Given the description of an element on the screen output the (x, y) to click on. 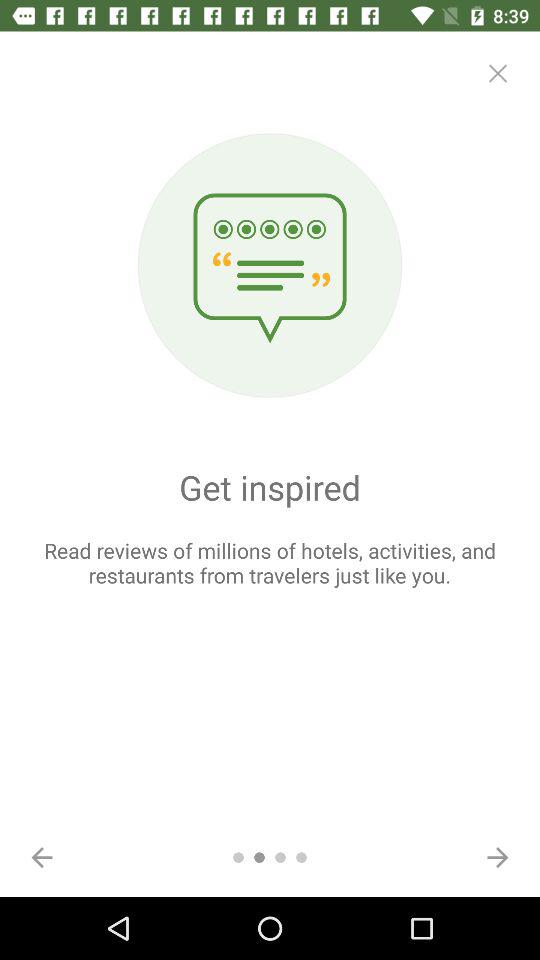
open the icon at the bottom right corner (498, 857)
